Given the description of an element on the screen output the (x, y) to click on. 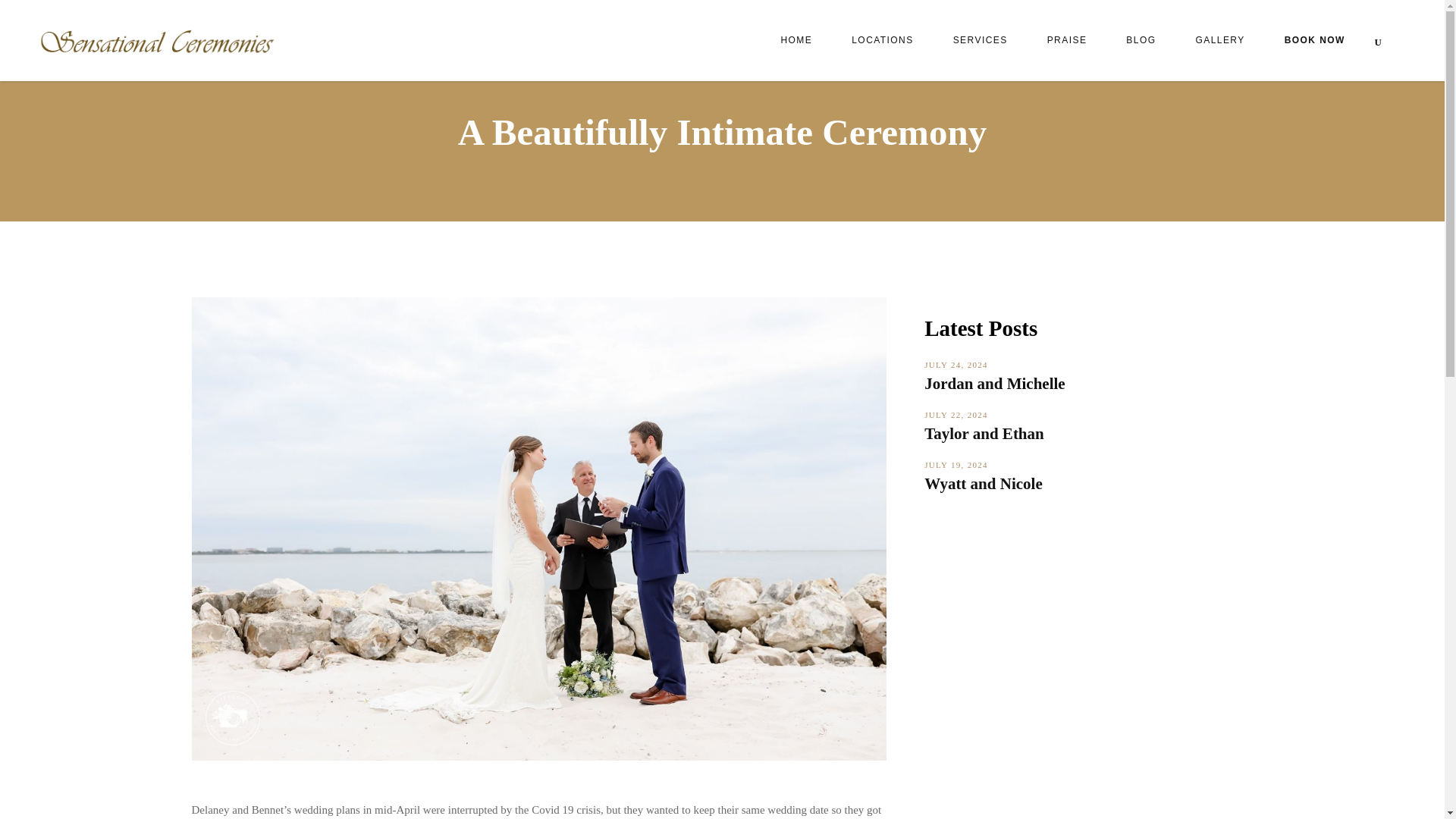
Jordan and Michelle (994, 383)
LOCATIONS (882, 40)
BLOG (1140, 40)
Wyatt and Nicole (983, 484)
PRAISE (1066, 40)
SERVICES (980, 40)
HOME (795, 40)
Taylor and Ethan (983, 434)
